Given the description of an element on the screen output the (x, y) to click on. 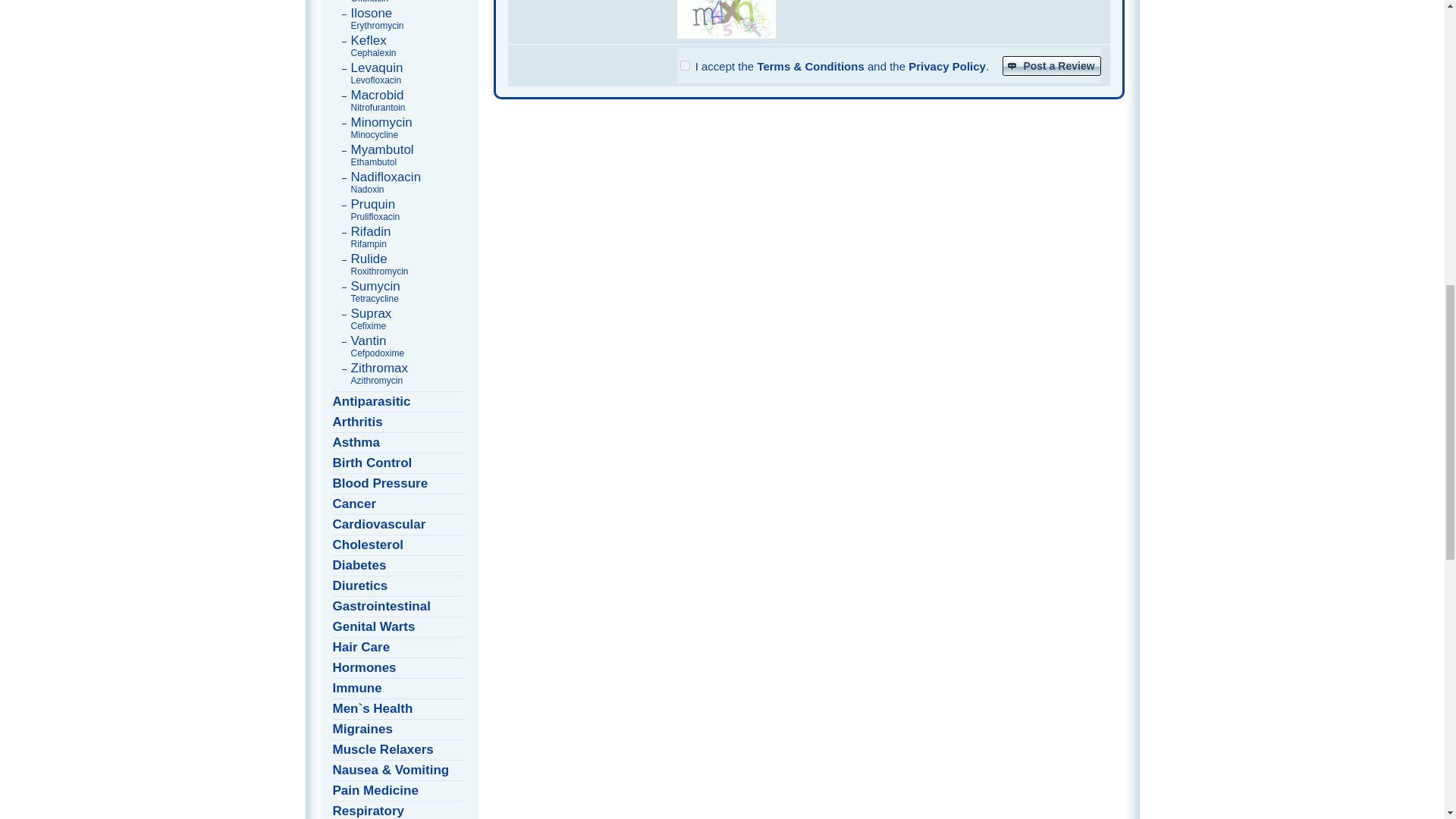
Click here for change image (725, 19)
on (398, 18)
